Given the description of an element on the screen output the (x, y) to click on. 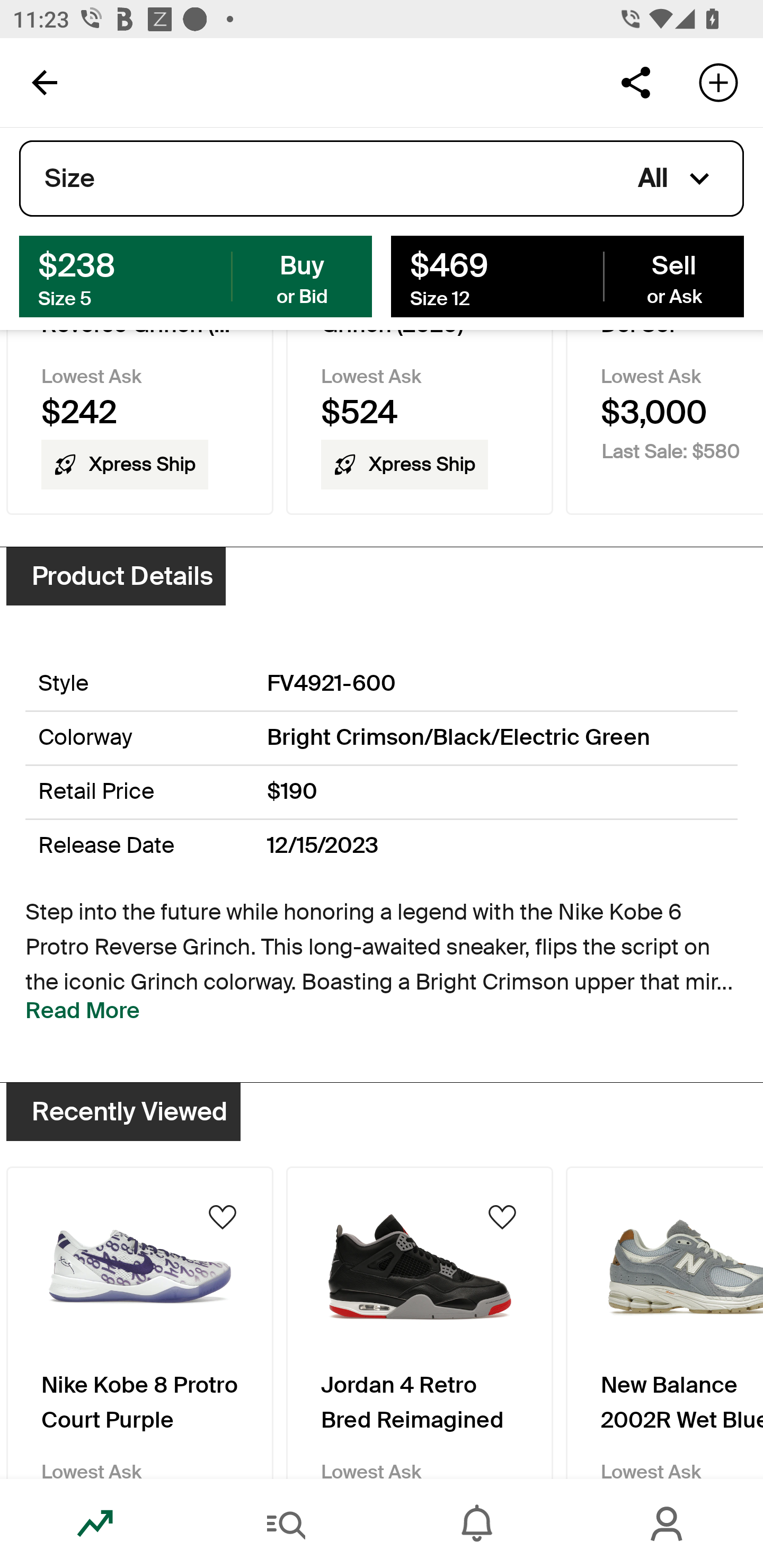
Share (635, 81)
Add (718, 81)
Size All (381, 178)
$238 Buy Size 5 or Bid (195, 275)
$469 Sell Size 12 or Ask (566, 275)
Read More (82, 1010)
Search (285, 1523)
Inbox (476, 1523)
Account (667, 1523)
